Given the description of an element on the screen output the (x, y) to click on. 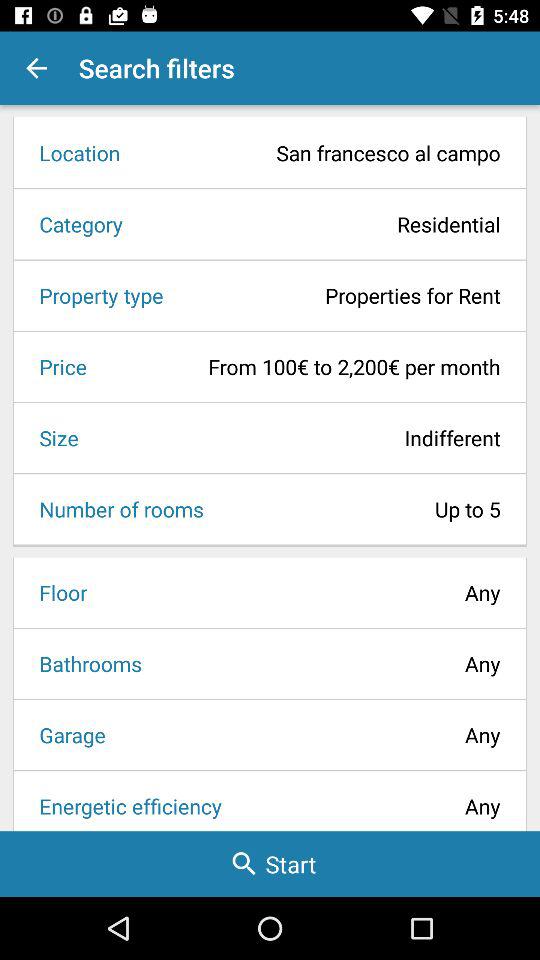
scroll until the number of rooms item (115, 509)
